Given the description of an element on the screen output the (x, y) to click on. 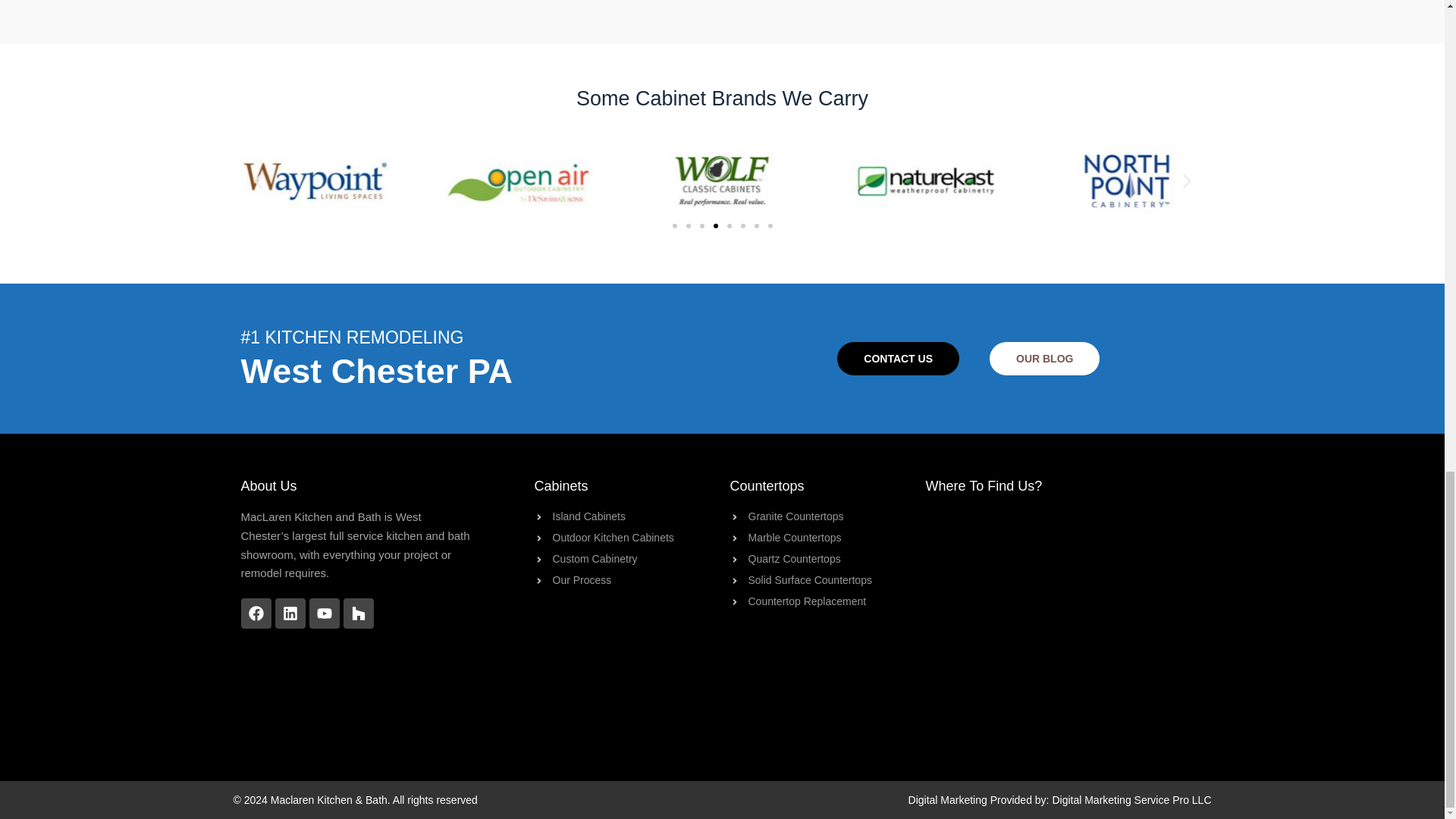
MacLaren Kitchen and Bath (1064, 621)
